Given the description of an element on the screen output the (x, y) to click on. 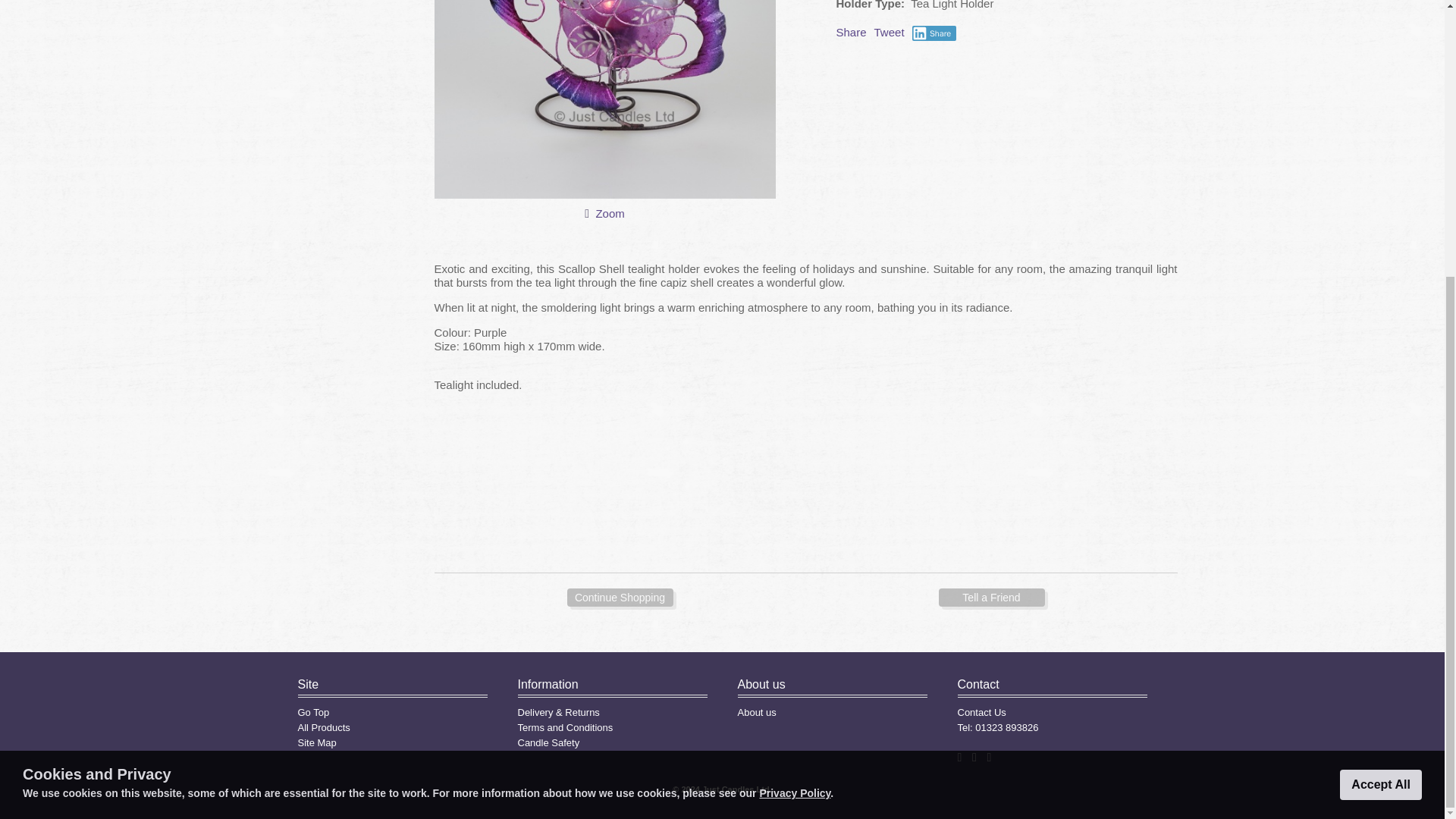
Tweet (889, 31)
Go Top (313, 712)
Continue Shopping (619, 597)
Scallop Shell Metal Tealight Holder (609, 213)
Zoom (603, 99)
Terms and Conditions (564, 727)
Candle Safety (547, 742)
Zoom (609, 213)
Share (850, 31)
Scallop Shell Metal Tealight Holder (603, 194)
About us (756, 712)
Site Map (316, 742)
All Products (323, 727)
Share (934, 32)
Tell a Friend (992, 597)
